Given the description of an element on the screen output the (x, y) to click on. 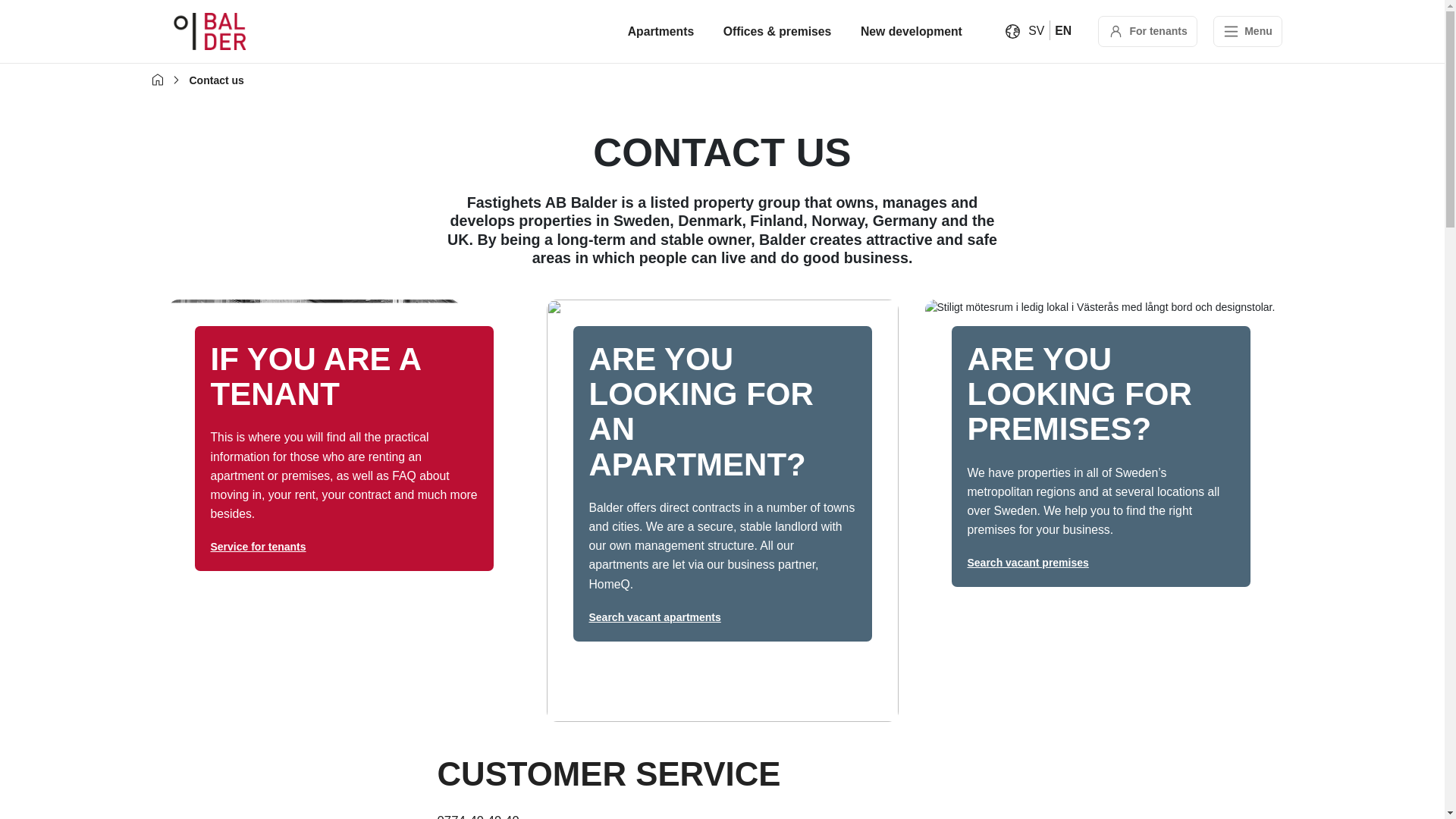
Kontakta oss (1035, 30)
Menu (1247, 30)
Contact us (1062, 30)
Apartments (660, 32)
EN (1062, 30)
For tenants (1146, 30)
New development (911, 32)
For tenants (1147, 31)
SV (1035, 30)
